Given the description of an element on the screen output the (x, y) to click on. 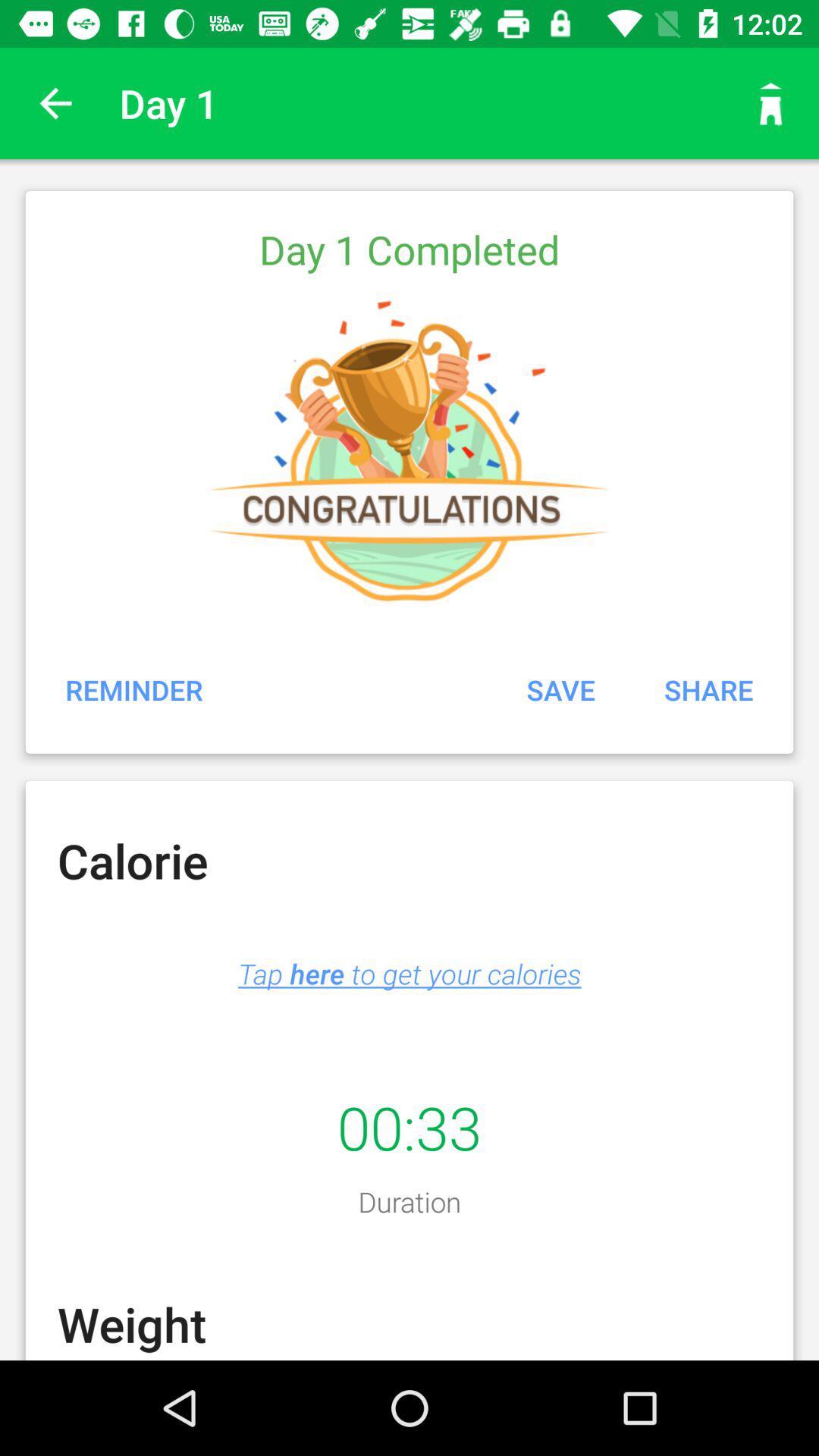
turn off the item above 00:33 (409, 973)
